Given the description of an element on the screen output the (x, y) to click on. 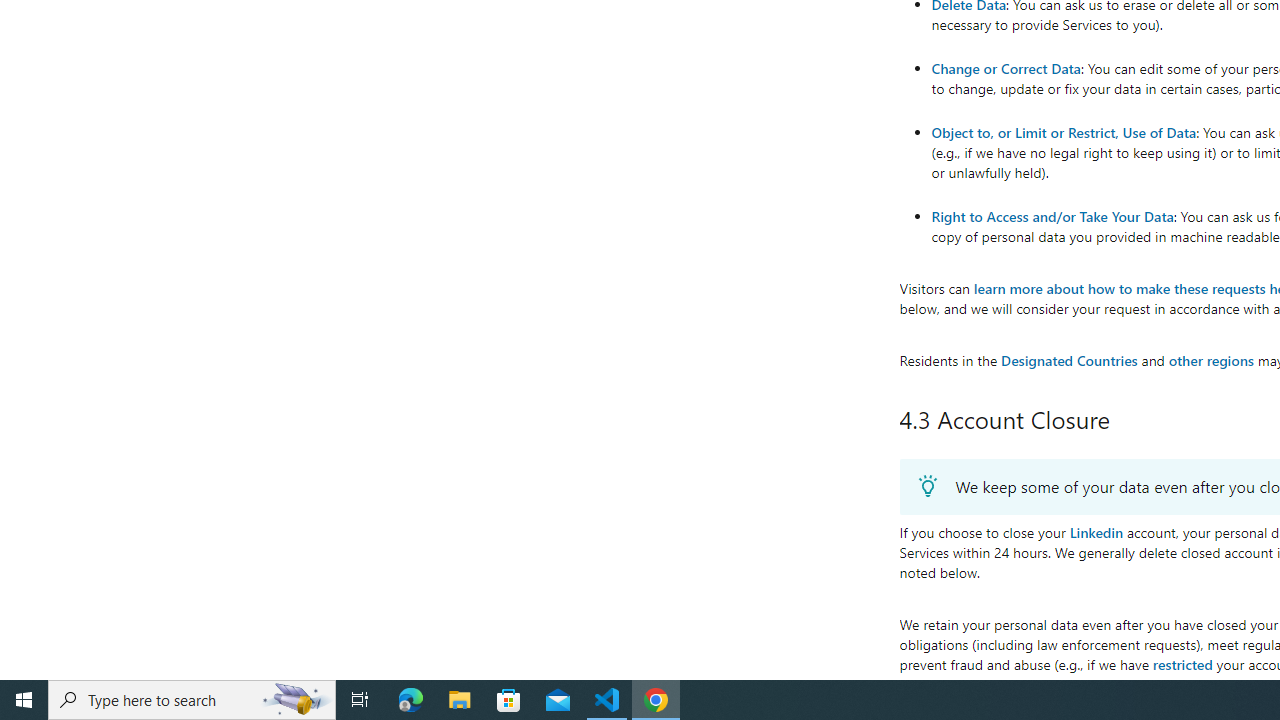
Designated Countries (1068, 359)
Right to Access and/or Take Your Data (1051, 215)
Linkedin (1095, 532)
other regions (1210, 359)
Change or Correct Data (1005, 67)
restricted (1182, 663)
Object to, or Limit or Restrict, Use of Data (1063, 131)
